Given the description of an element on the screen output the (x, y) to click on. 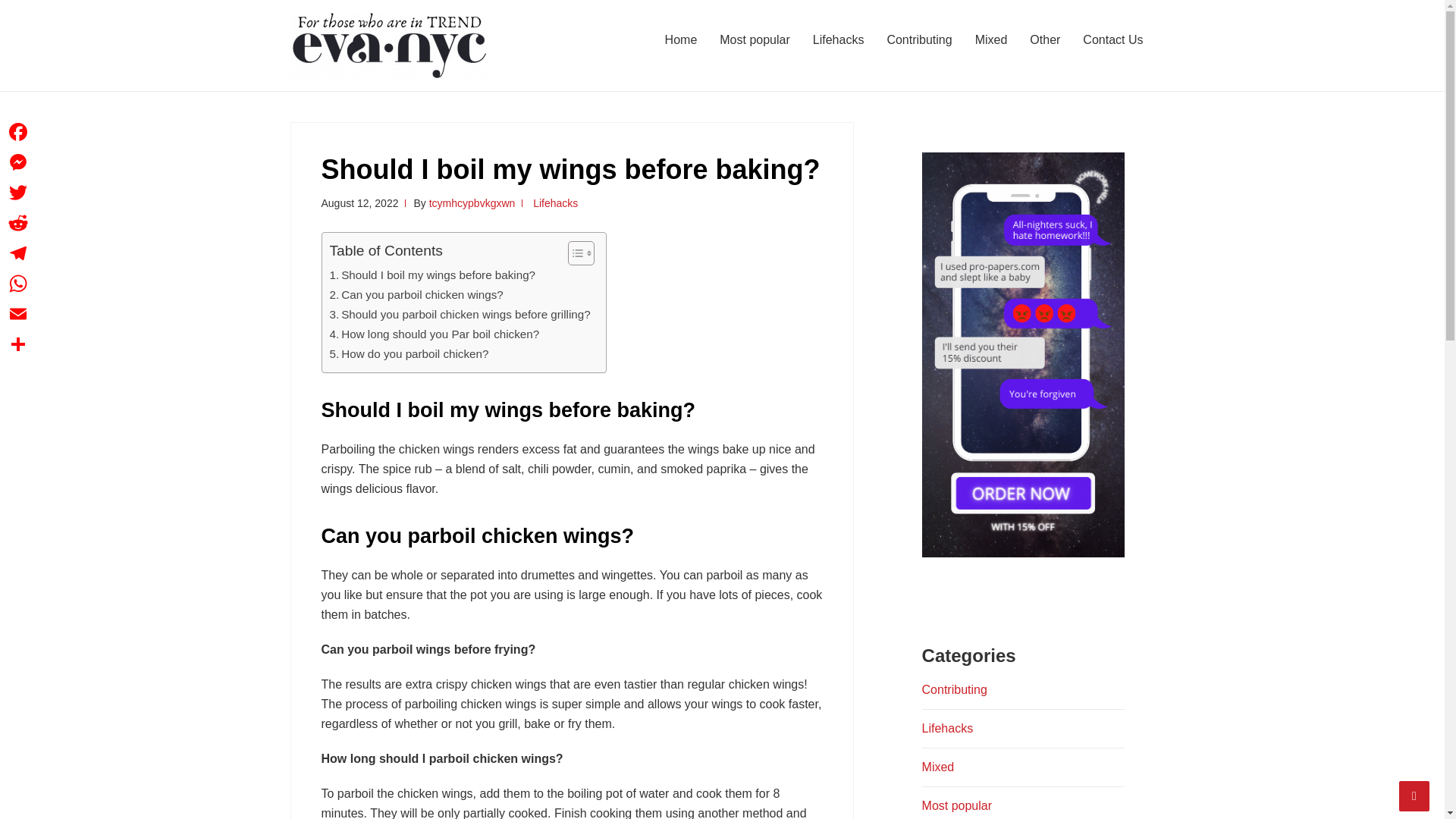
Should you parboil chicken wings before grilling? (459, 314)
Mixed (938, 766)
How long should you Par boil chicken? (433, 334)
Contributing (954, 689)
Lifehacks (947, 727)
Should I boil my wings before baking? (432, 275)
How do you parboil chicken? (408, 353)
Can you parboil chicken wings? (415, 294)
Mixed (991, 39)
How do you parboil chicken? (408, 353)
